Given the description of an element on the screen output the (x, y) to click on. 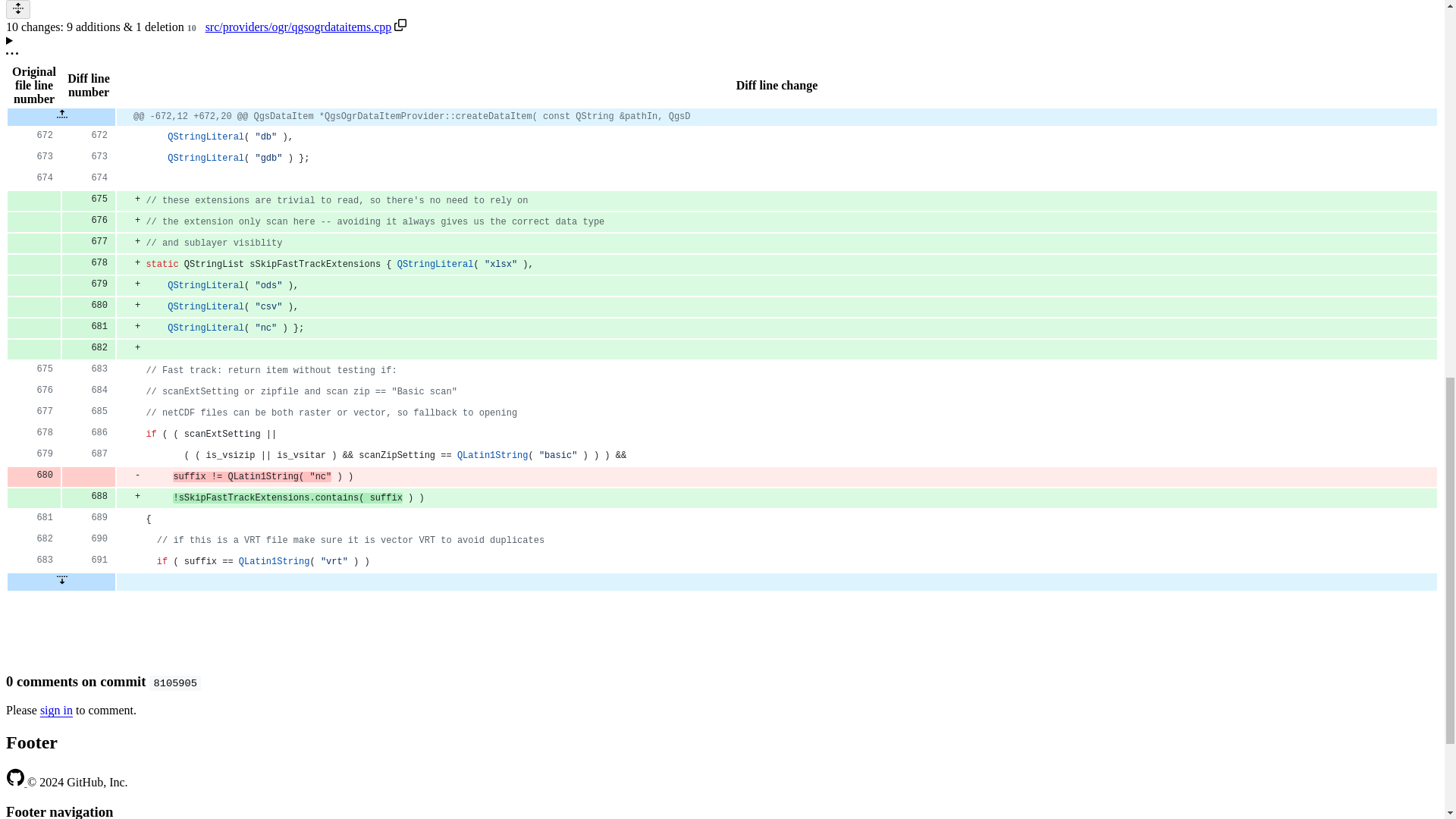
GitHub (16, 781)
